Given the description of an element on the screen output the (x, y) to click on. 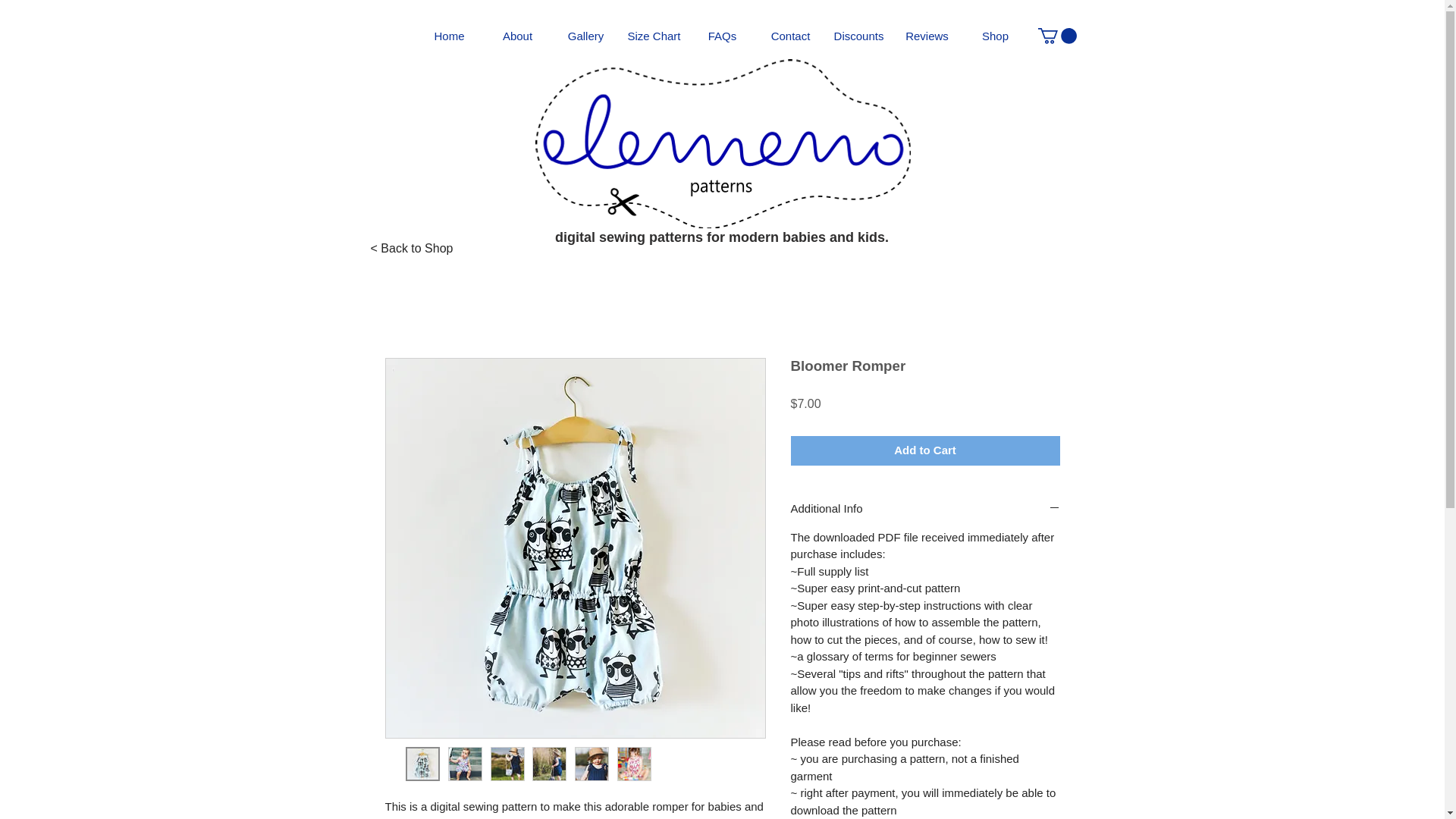
About (517, 35)
Reviews (926, 35)
Home (448, 35)
path4145.png (723, 143)
Contact (791, 35)
Discounts (859, 35)
Additional Info (924, 509)
Gallery (585, 35)
Shop (994, 35)
Add to Cart (924, 450)
